Given the description of an element on the screen output the (x, y) to click on. 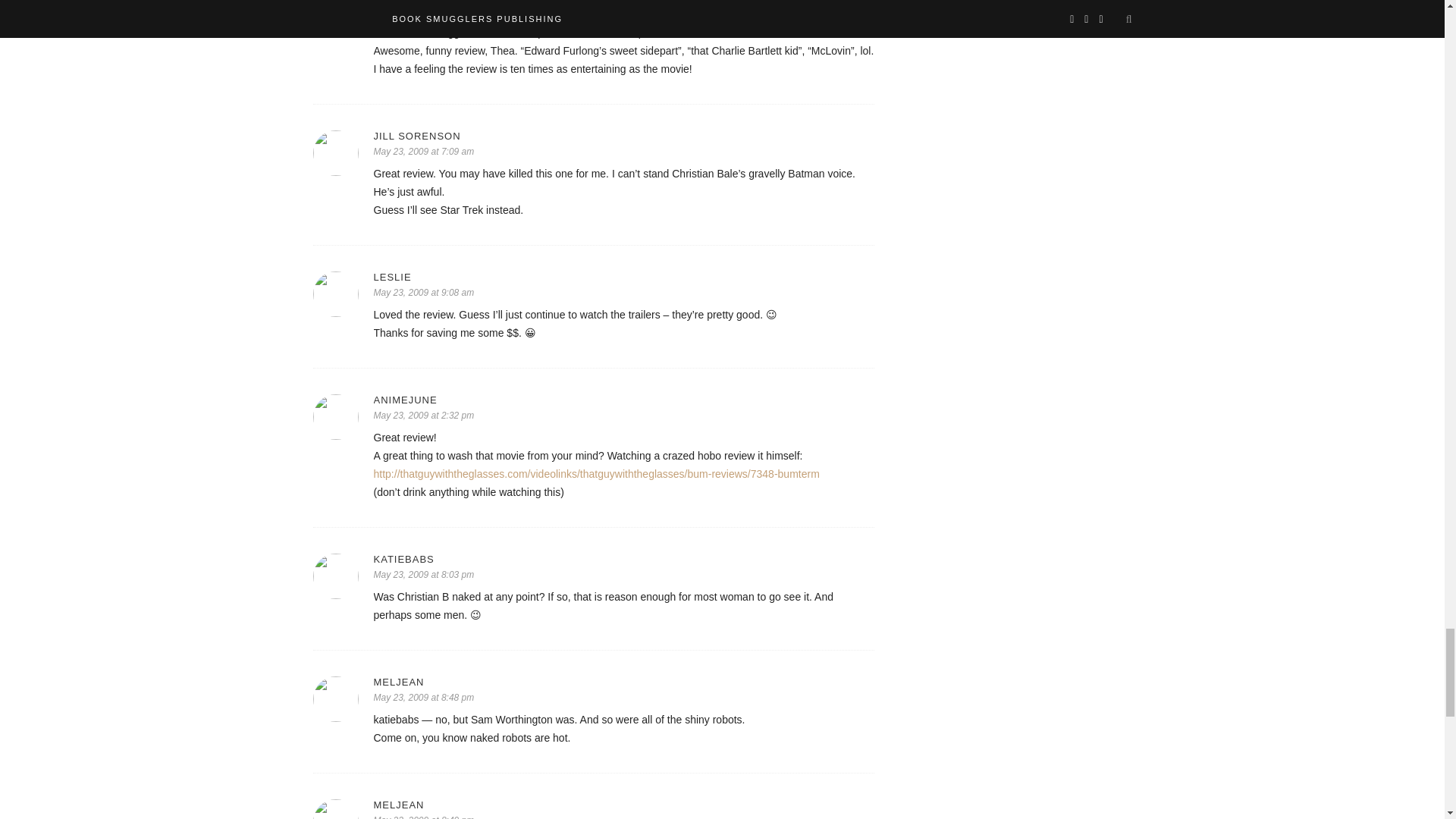
JILL SORENSON (622, 135)
ANIMEJUNE (622, 399)
MELJEAN (622, 681)
LESLIE (622, 276)
KATIEBABS (622, 559)
MELJEAN (622, 804)
